Given the description of an element on the screen output the (x, y) to click on. 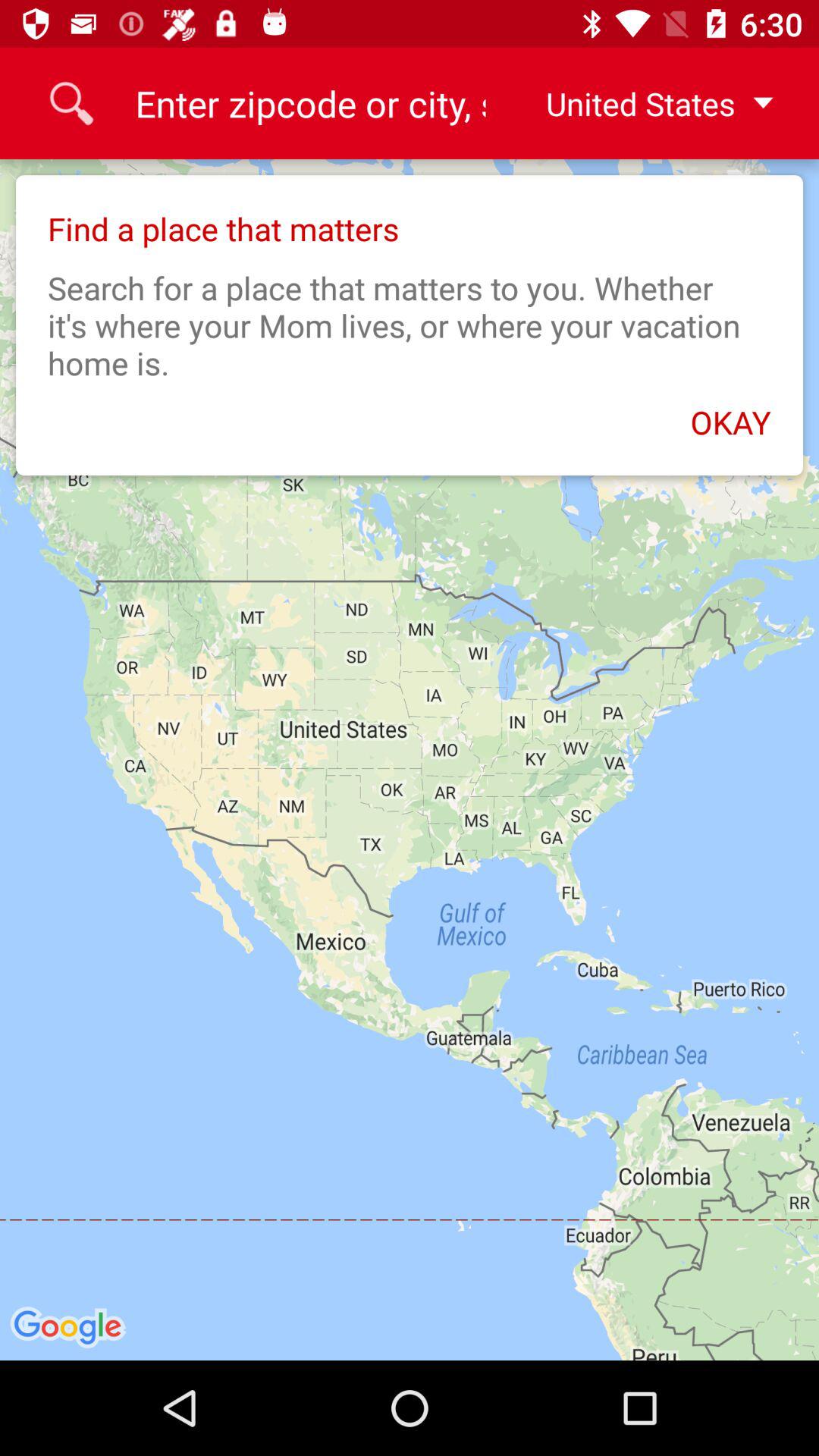
tap icon next to united states item (309, 103)
